Given the description of an element on the screen output the (x, y) to click on. 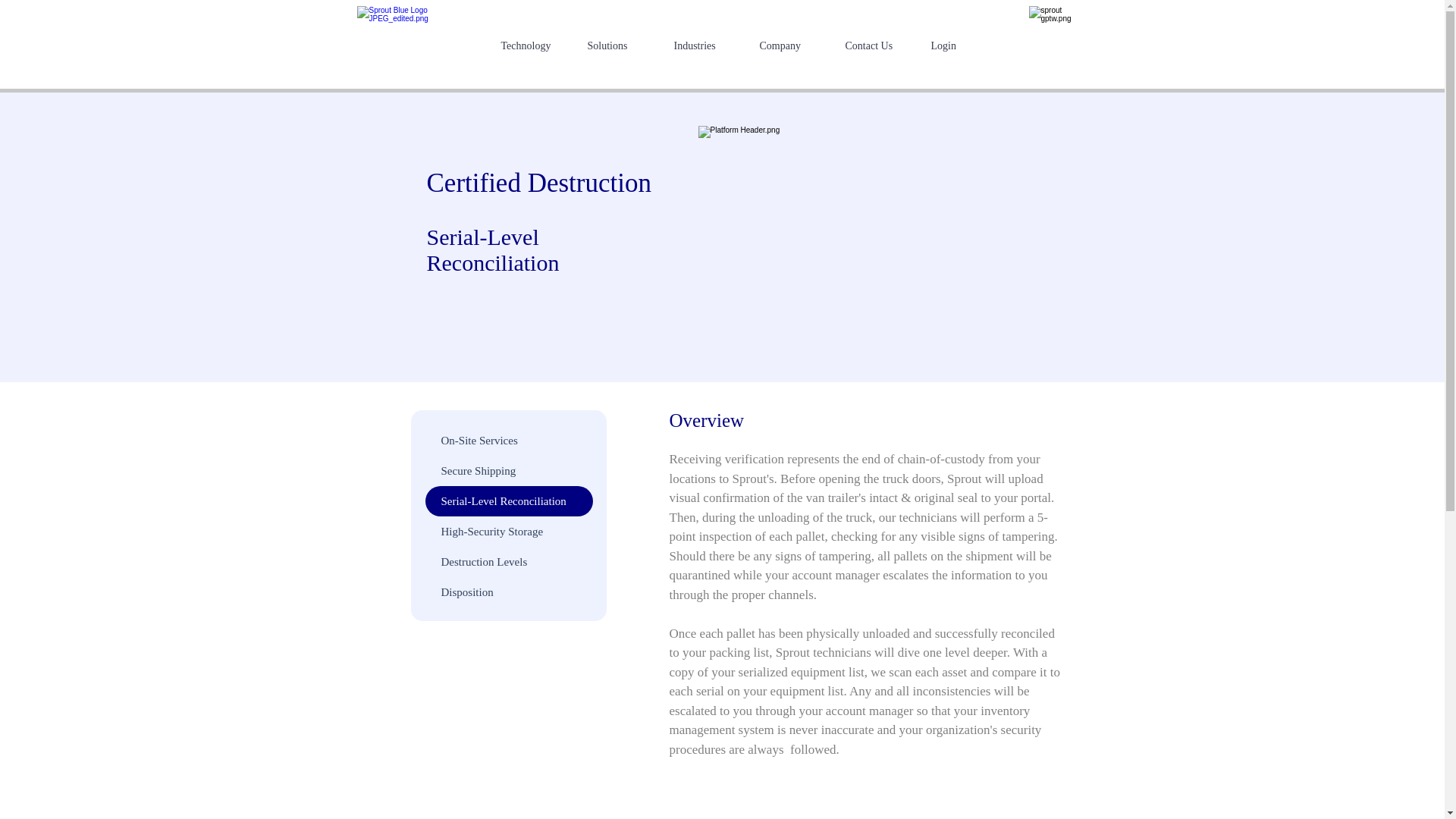
Contact Us (877, 45)
Technology (532, 45)
Company (790, 45)
Login (961, 45)
Serial-Level Reconciliation (508, 501)
Solutions (619, 45)
On-Site Services (508, 440)
Industries (705, 45)
Secure Shipping (508, 470)
Disposition (508, 592)
